Given the description of an element on the screen output the (x, y) to click on. 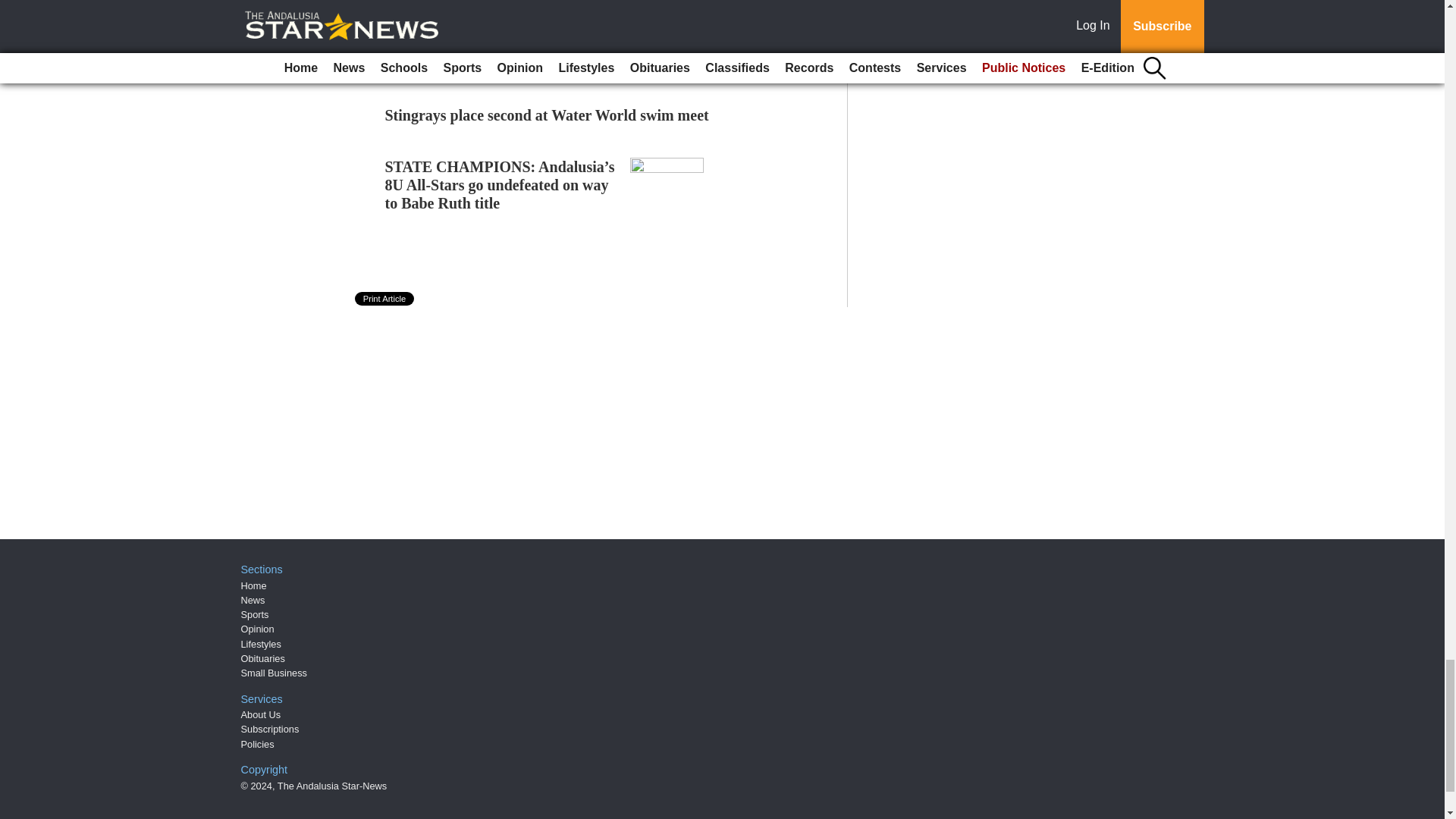
News (252, 600)
Stingrays place second at Water World swim meet (547, 115)
Stingrays place second at Water World swim meet (547, 115)
Lifestyles (261, 644)
Home (253, 585)
Opinion (258, 628)
Sports (255, 614)
Obituaries (263, 658)
Print Article (384, 298)
